Given the description of an element on the screen output the (x, y) to click on. 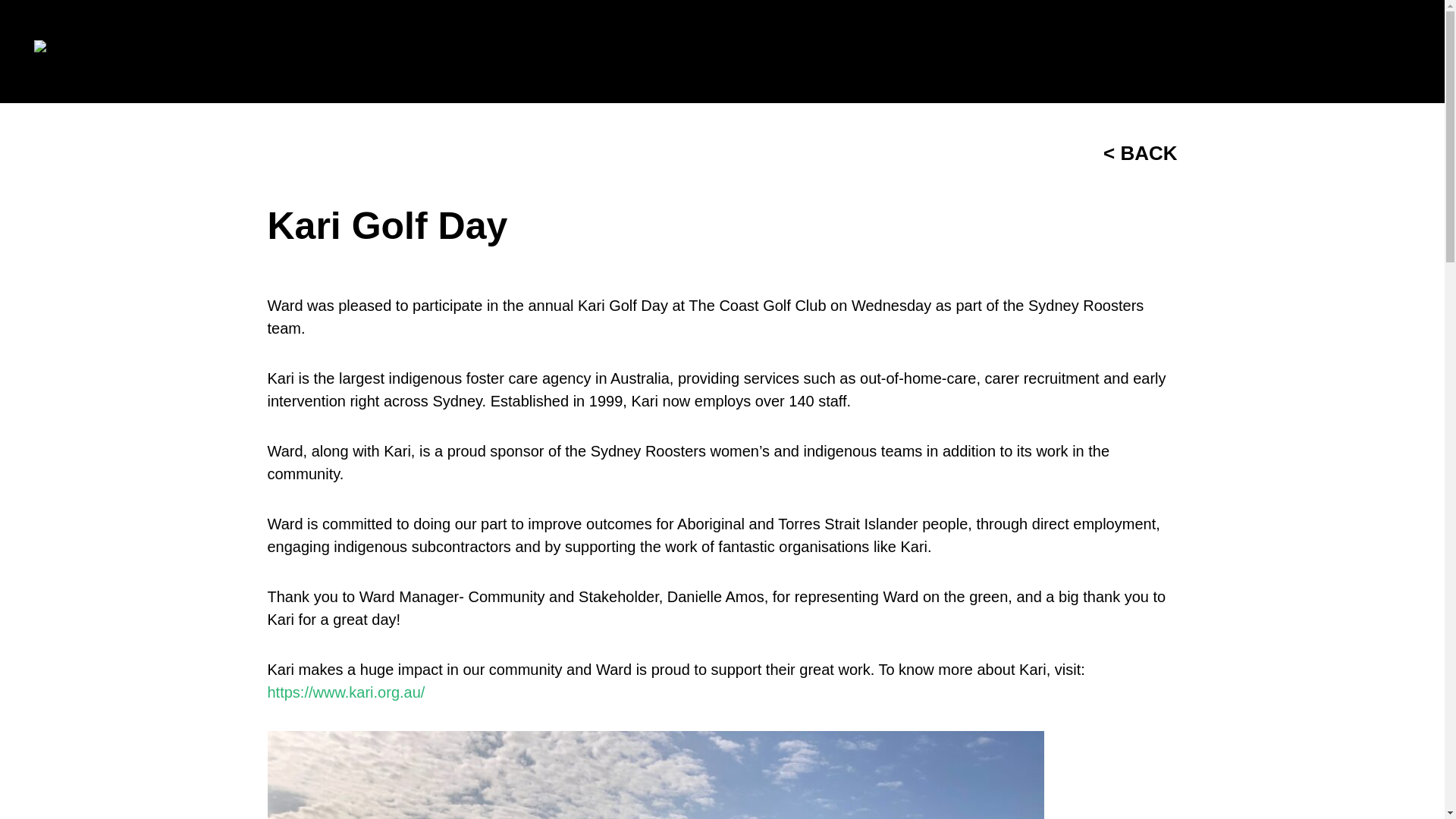
CONTACT (1294, 51)
Ward Group (80, 51)
Search (1380, 51)
HOME (559, 51)
PROJECTS (986, 51)
Search (1380, 51)
ABOUT (648, 51)
Search (1380, 51)
SERVICES (872, 51)
PRIORITIES (755, 51)
